Given the description of an element on the screen output the (x, y) to click on. 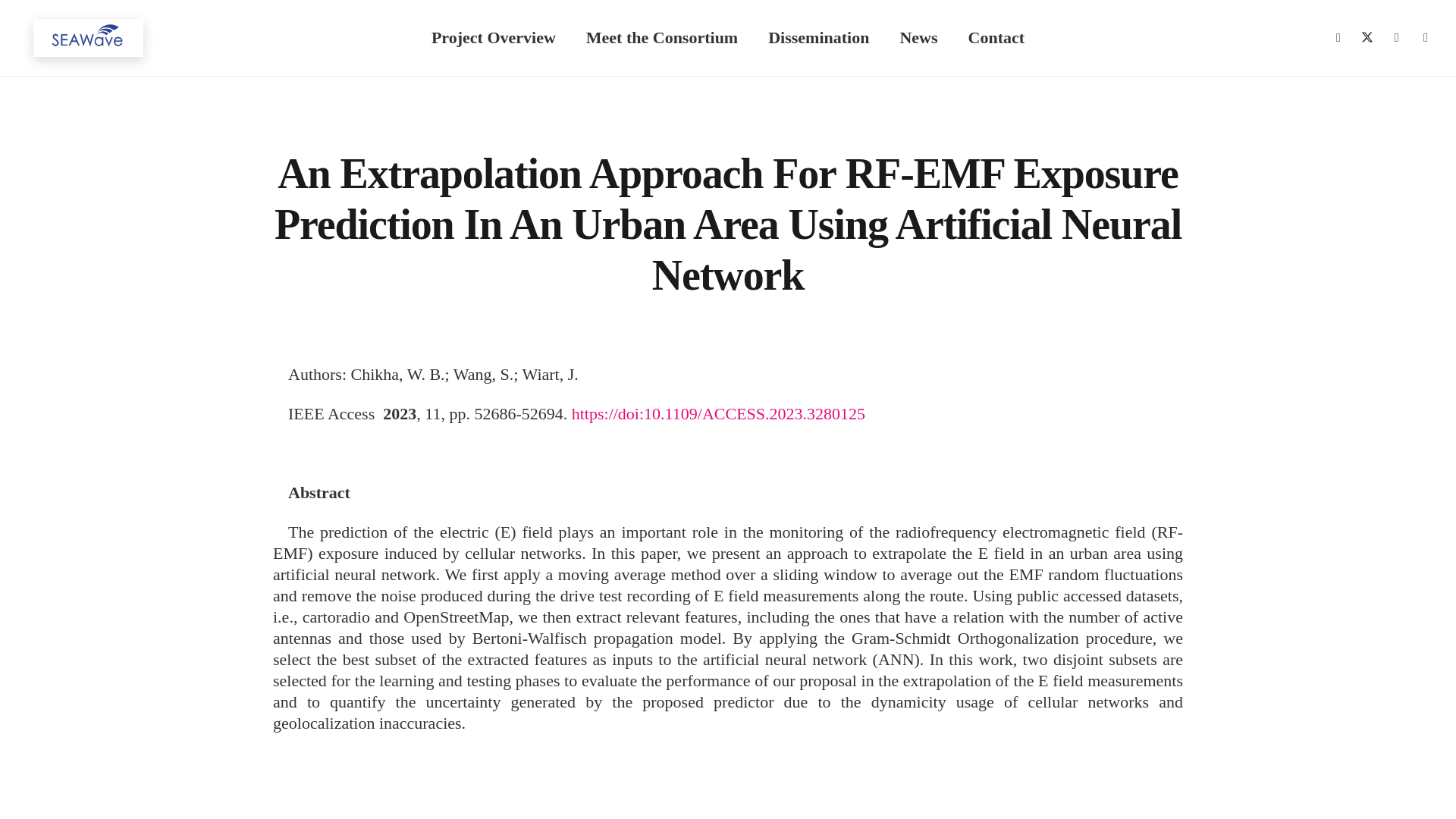
LinkedIn (1396, 37)
Twitter (1366, 37)
Meet the Consortium (438, 783)
SEAWave Workshop at the BioEM2024 meeting (703, 633)
Facebook (1338, 37)
Project Overview (493, 38)
Dissemination (817, 38)
News (917, 38)
News (629, 783)
Meet the Consortium (661, 38)
Twitter (974, 677)
YouTube (1064, 677)
LinkedIn (1019, 677)
Dissemination (553, 783)
